Given the description of an element on the screen output the (x, y) to click on. 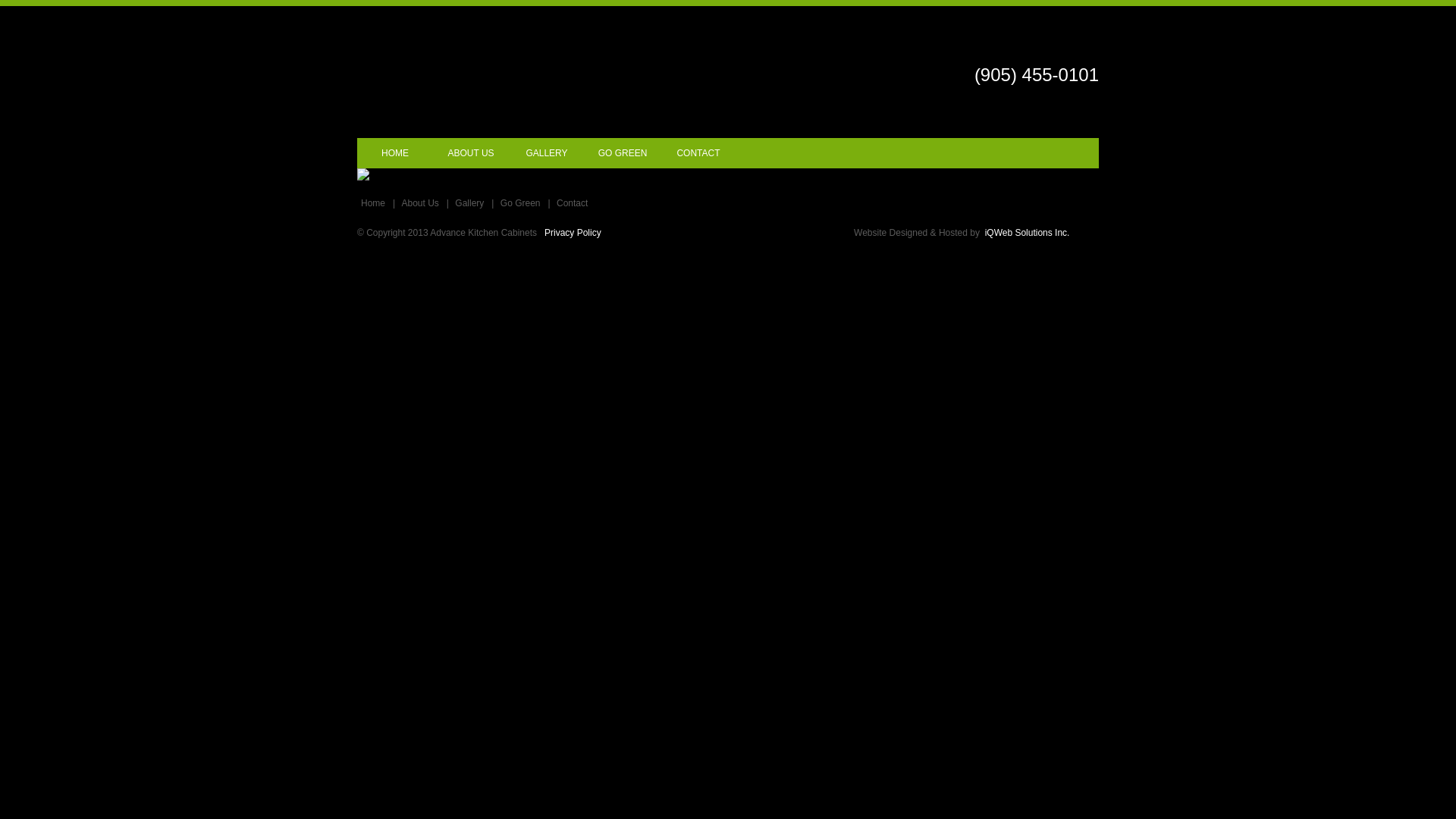
Privacy Policy Element type: text (572, 232)
Go Green Element type: text (522, 202)
About Us Element type: text (421, 202)
GALLERY Element type: text (546, 153)
CONTACT Element type: text (698, 153)
GO GREEN Element type: text (622, 153)
Contact Element type: text (573, 202)
iQWeb Solutions Inc. Element type: text (1027, 232)
Gallery Element type: text (471, 202)
HOME Element type: text (395, 153)
ABOUT US Element type: text (470, 153)
Home Element type: text (374, 202)
